Given the description of an element on the screen output the (x, y) to click on. 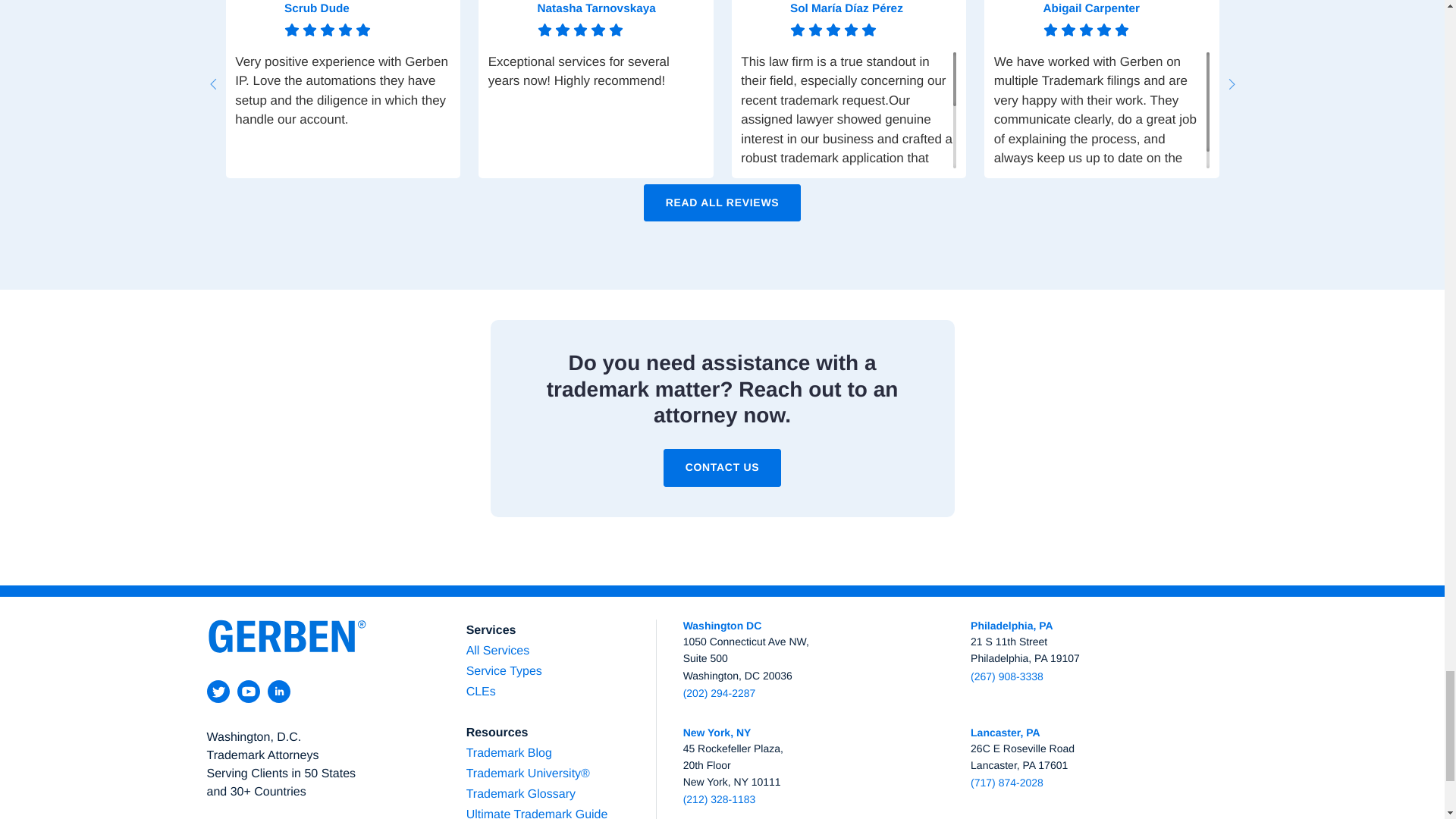
Scrub Dude (366, 8)
Natasha Tarnovskaya (620, 8)
Abigail Carpenter (1013, 19)
Natasha Tarnovskaya (507, 19)
Abigail Carpenter (1126, 8)
Scrub Dude (254, 19)
